Given the description of an element on the screen output the (x, y) to click on. 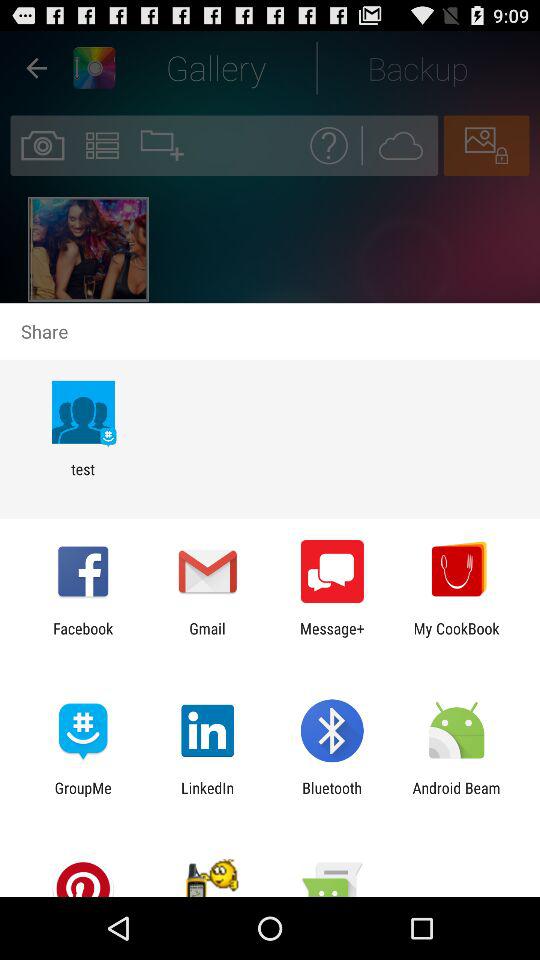
tap my cookbook item (456, 637)
